Given the description of an element on the screen output the (x, y) to click on. 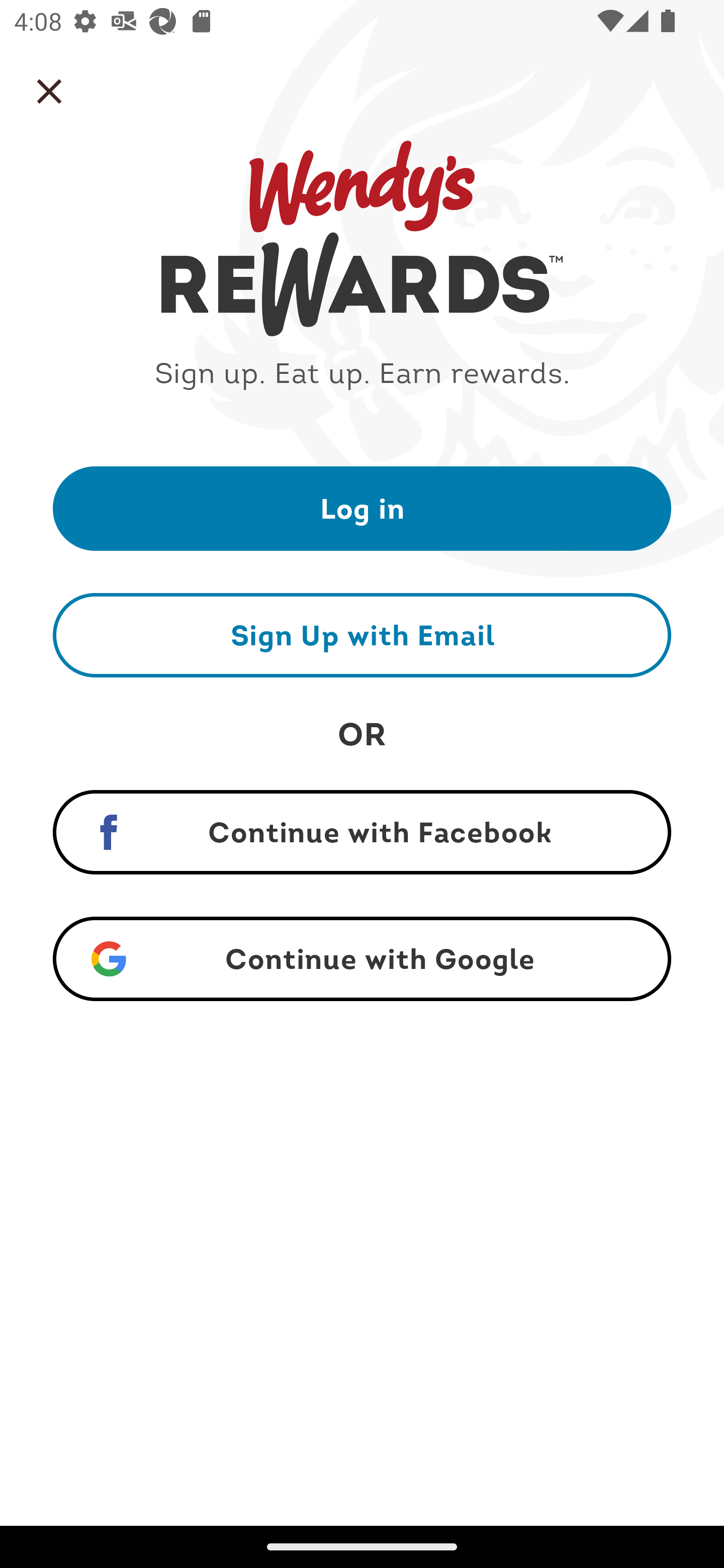
close (49, 91)
Log in (361, 507)
Sign Up with Email (361, 634)
Continue with Facebook (361, 832)
Continue with Google (361, 958)
